Given the description of an element on the screen output the (x, y) to click on. 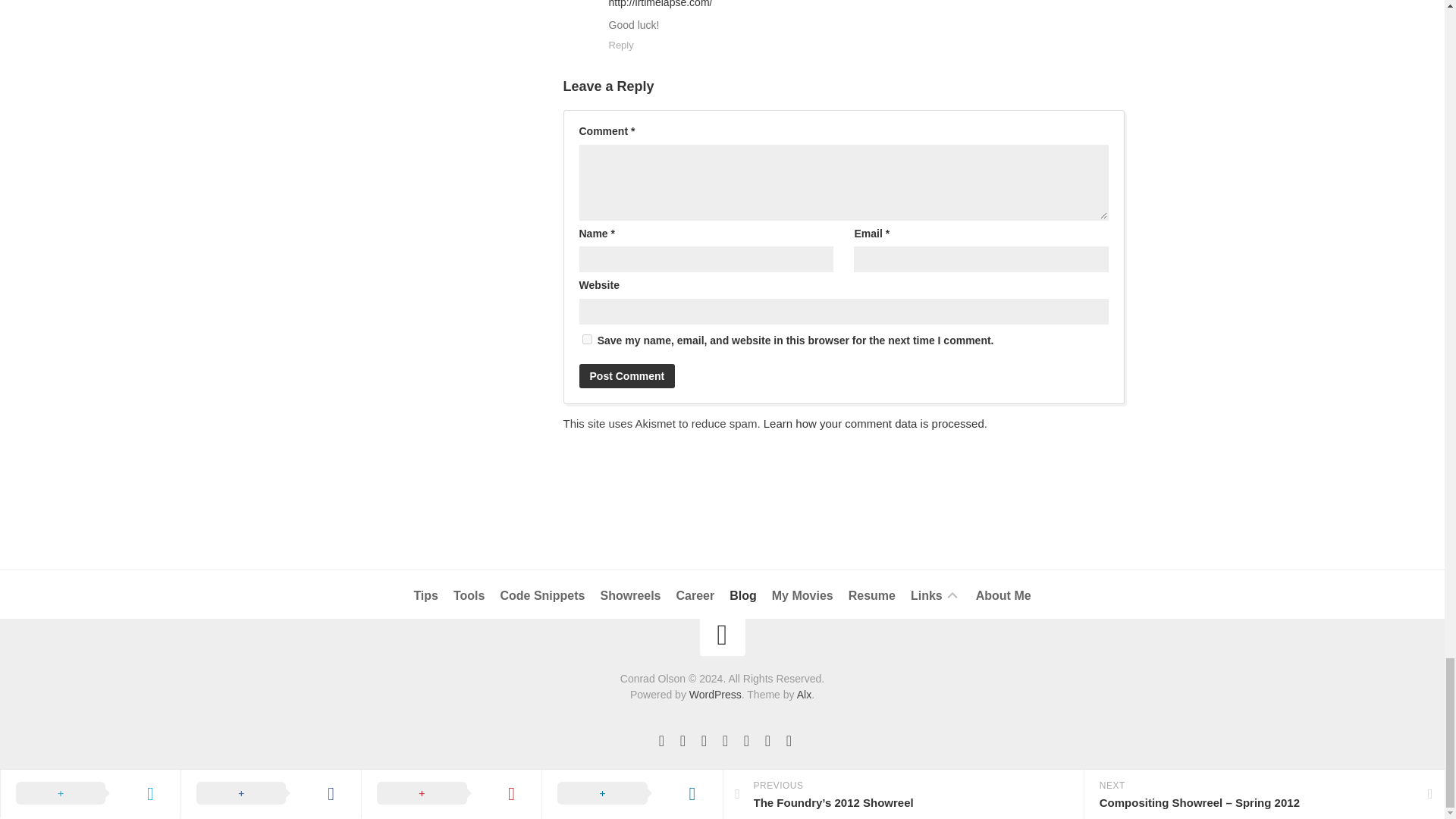
Post Comment (627, 375)
yes (587, 338)
